Given the description of an element on the screen output the (x, y) to click on. 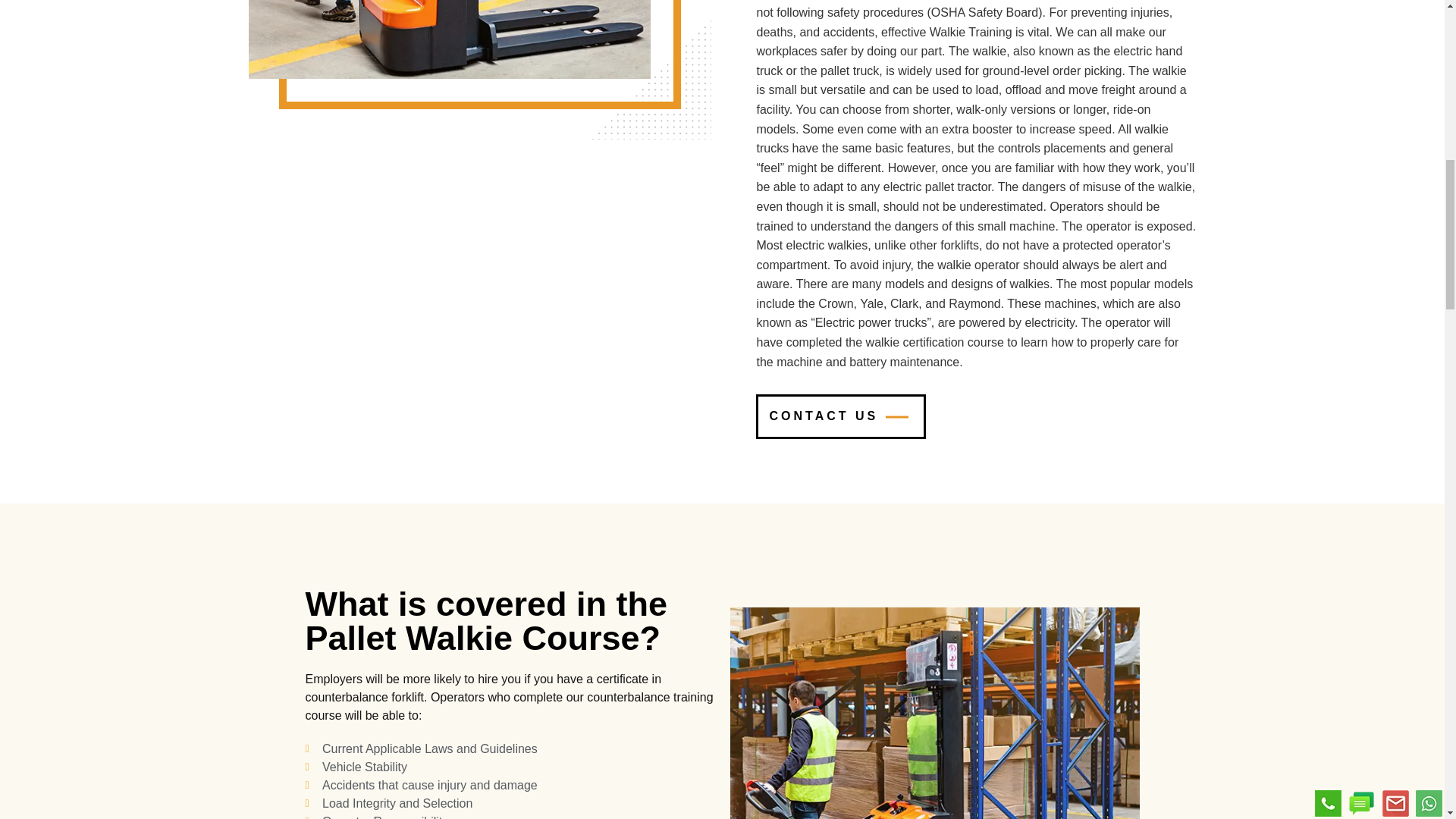
CONTACT US (840, 415)
